Given the description of an element on the screen output the (x, y) to click on. 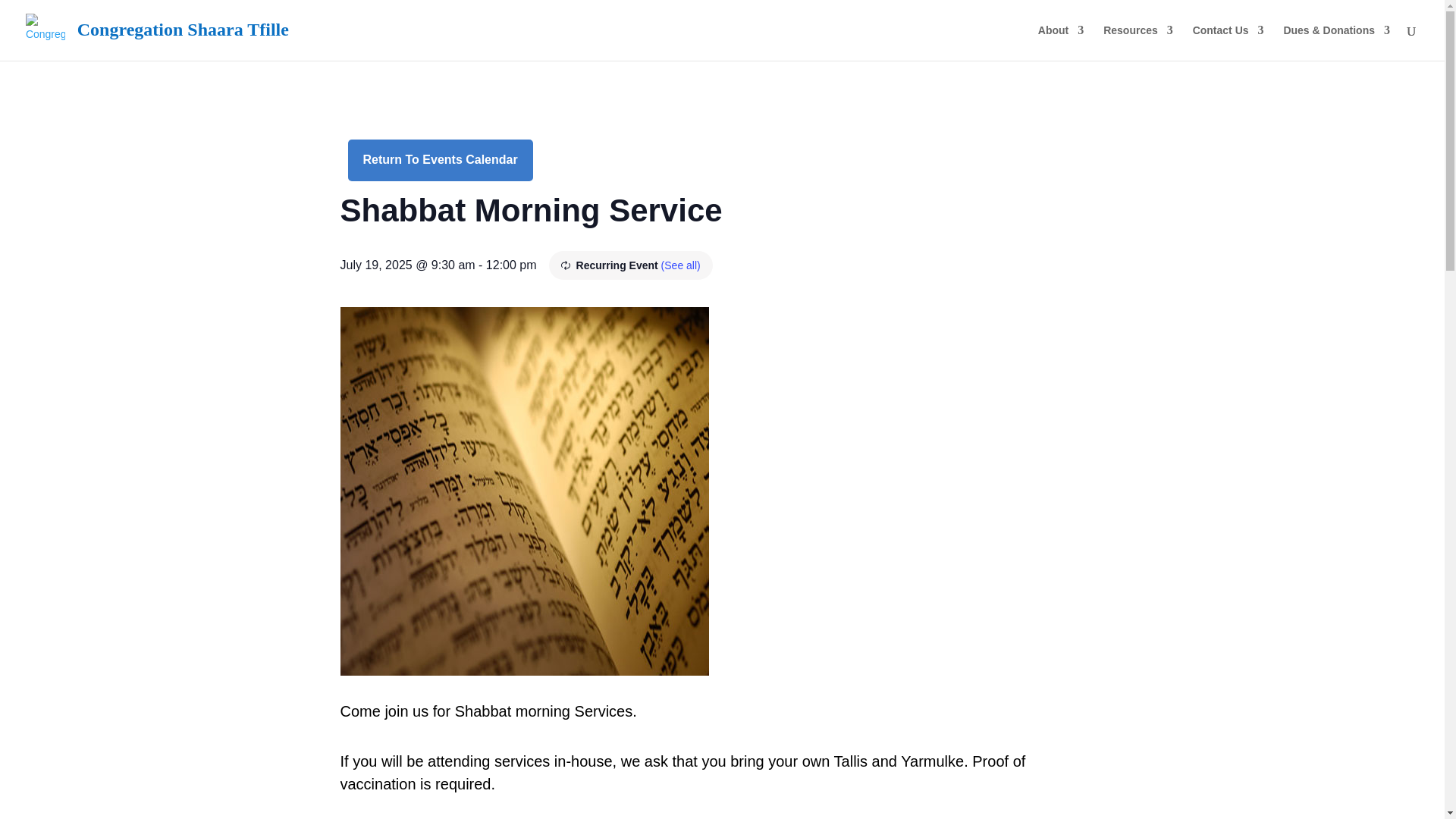
Return To Events Calendar (439, 159)
About (1060, 42)
Resources (1138, 42)
Contact Us (1227, 42)
